Given the description of an element on the screen output the (x, y) to click on. 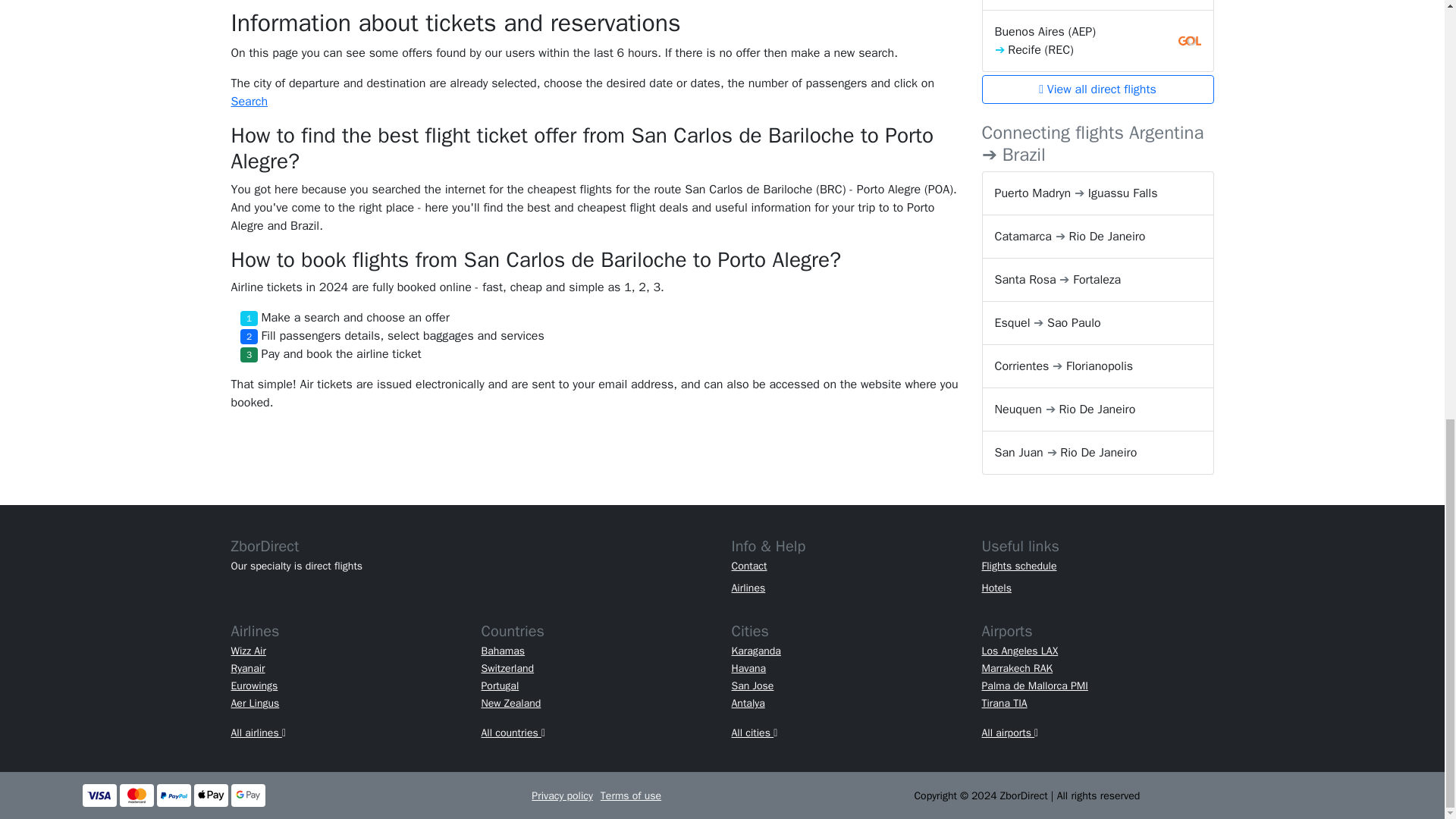
Buenos-aires - Recife (1096, 41)
Flights schedule (1019, 565)
Contact (748, 565)
Airlines (747, 587)
Hotels (995, 587)
Buenos-aires - Belo-horizonte (1096, 5)
